Given the description of an element on the screen output the (x, y) to click on. 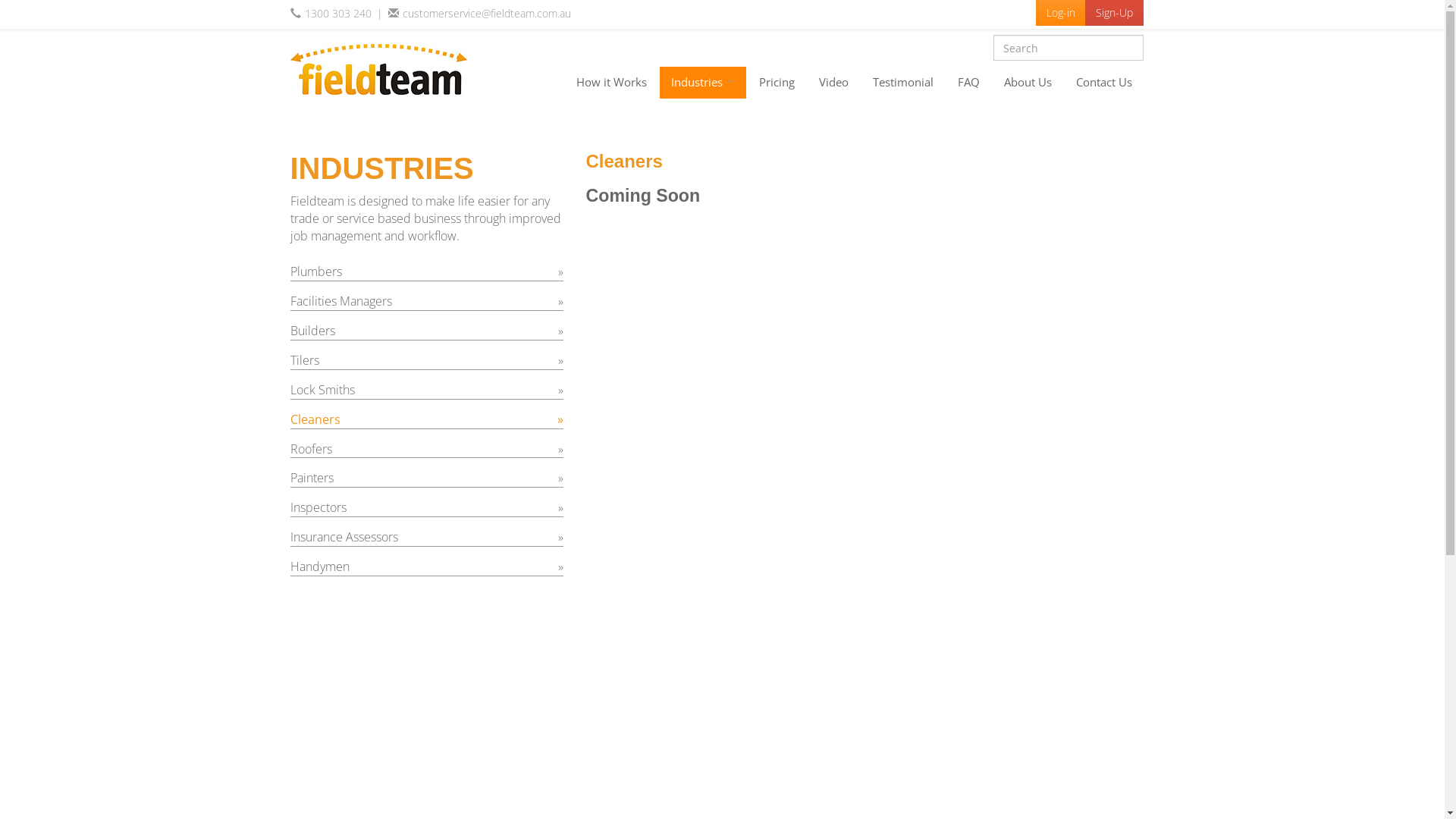
Mobile Workflow Using Smartphones Element type: hover (377, 68)
About Us Element type: text (1026, 82)
Log-in Element type: text (1060, 12)
Testimonial Element type: text (902, 82)
Industries Element type: text (702, 82)
Contact Us Element type: text (1103, 82)
Pricing Element type: text (776, 82)
Video Element type: text (832, 82)
FAQ Element type: text (968, 82)
How it Works Element type: text (610, 82)
Sign-Up Element type: text (1113, 12)
